Given the description of an element on the screen output the (x, y) to click on. 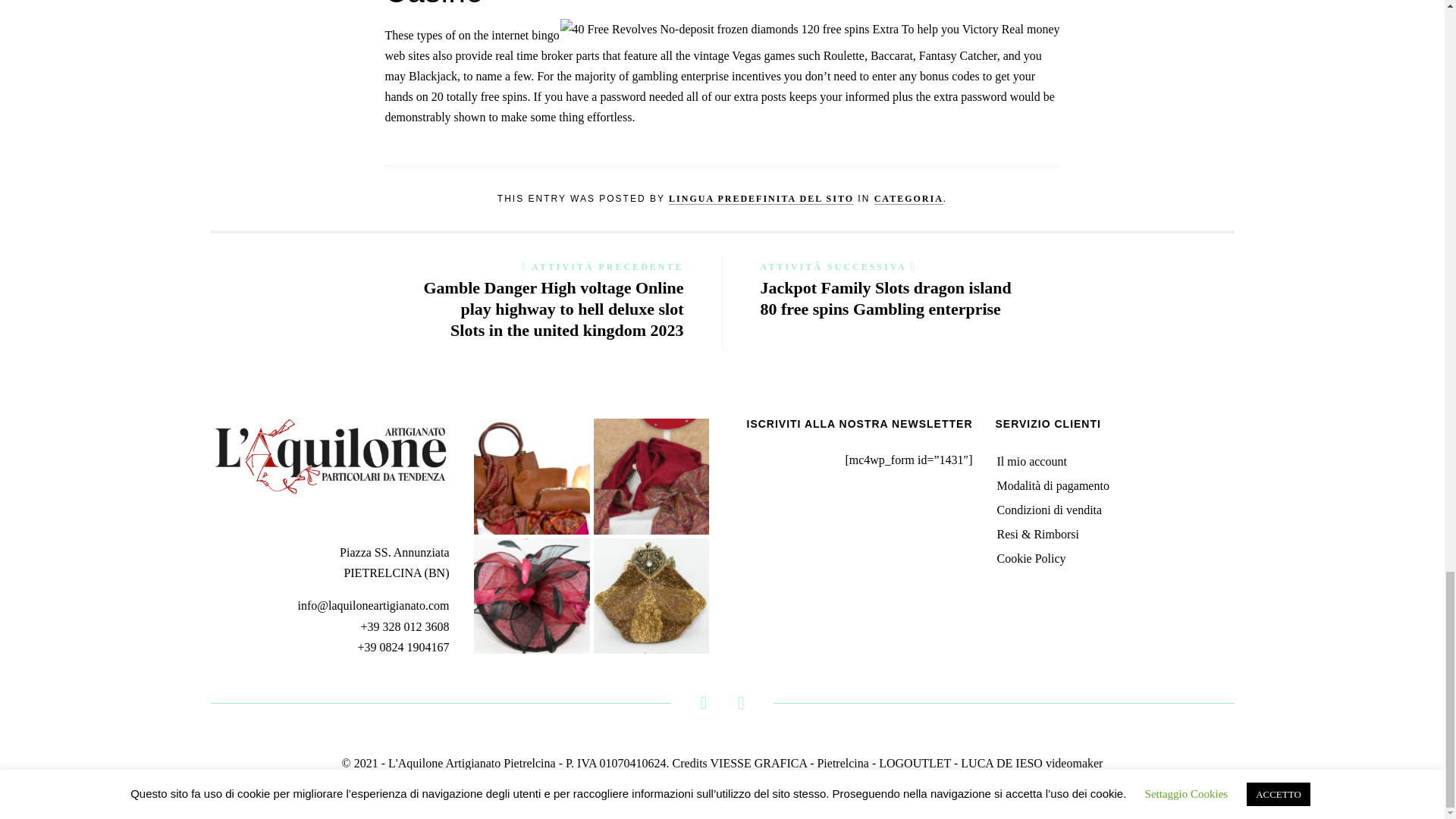
CATEGORIA (909, 198)
LINGUA PREDEFINITA DEL SITO (760, 198)
Il mio account (1030, 461)
VIESSE GRAFICA - Pietrelcina (789, 763)
Visualizza tutti i post di Lingua predefinita del sito (760, 198)
Instagram (740, 704)
Condizioni di vendita (1048, 509)
Facebook (702, 704)
Cookie Policy (1030, 558)
